Given the description of an element on the screen output the (x, y) to click on. 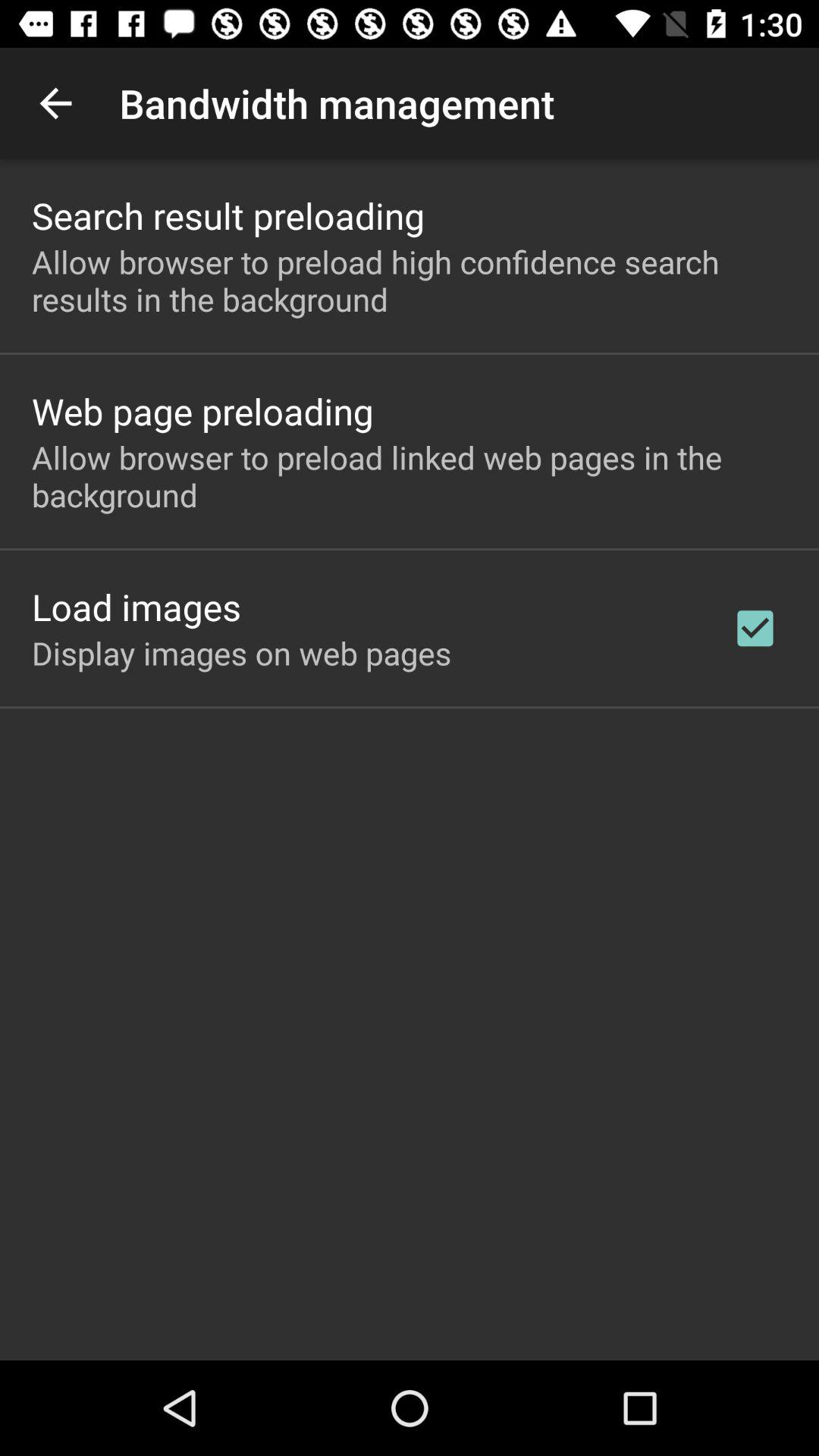
choose load images item (136, 606)
